Given the description of an element on the screen output the (x, y) to click on. 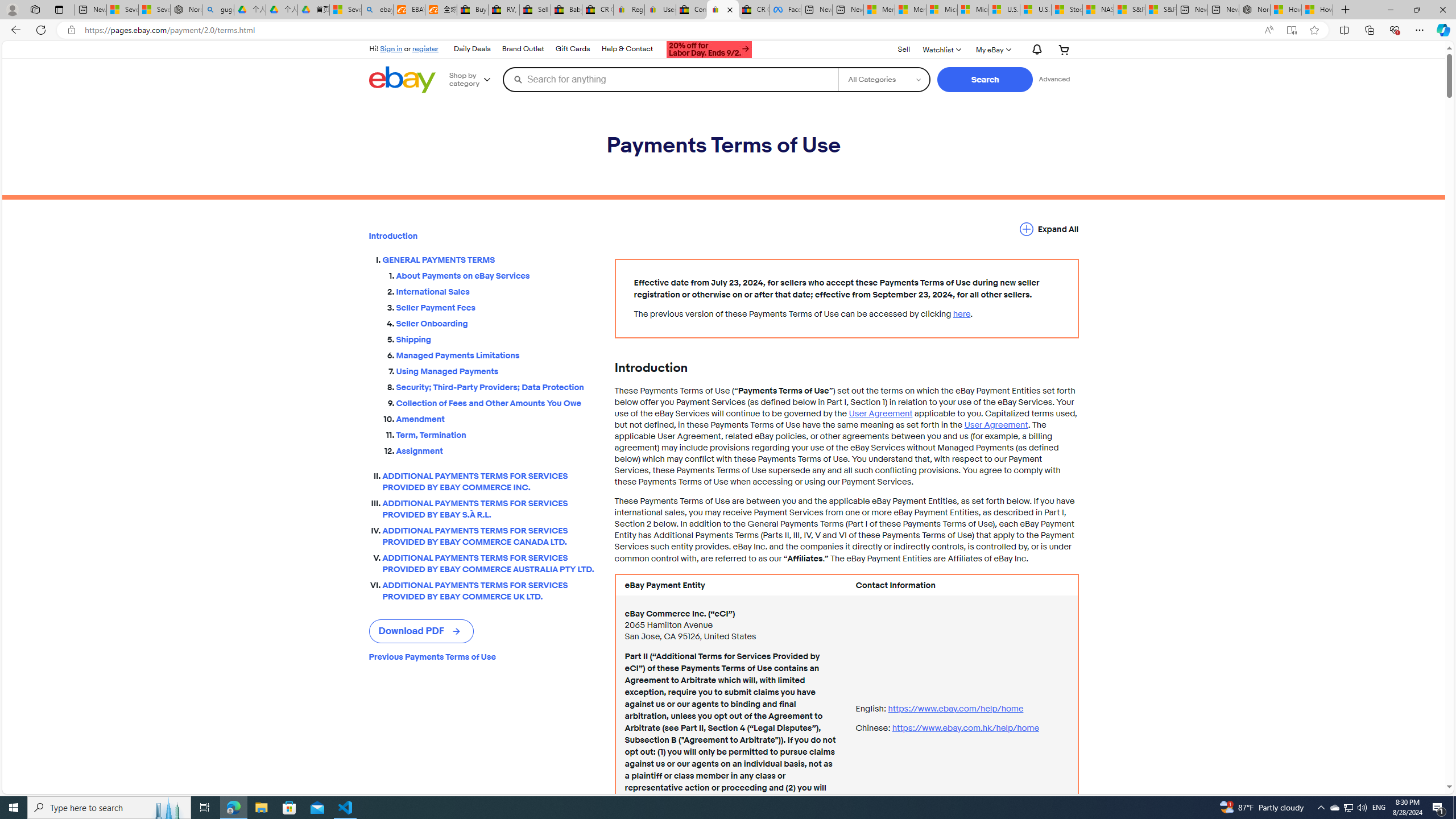
AutomationID: gh-eb-Alerts (1035, 49)
International Sales (496, 291)
Select a category for search (884, 78)
Gift Cards (571, 49)
International Sales (496, 289)
Daily Deals (472, 49)
User Agreement (995, 424)
Download PDF  (421, 631)
Search for anything (670, 78)
